Given the description of an element on the screen output the (x, y) to click on. 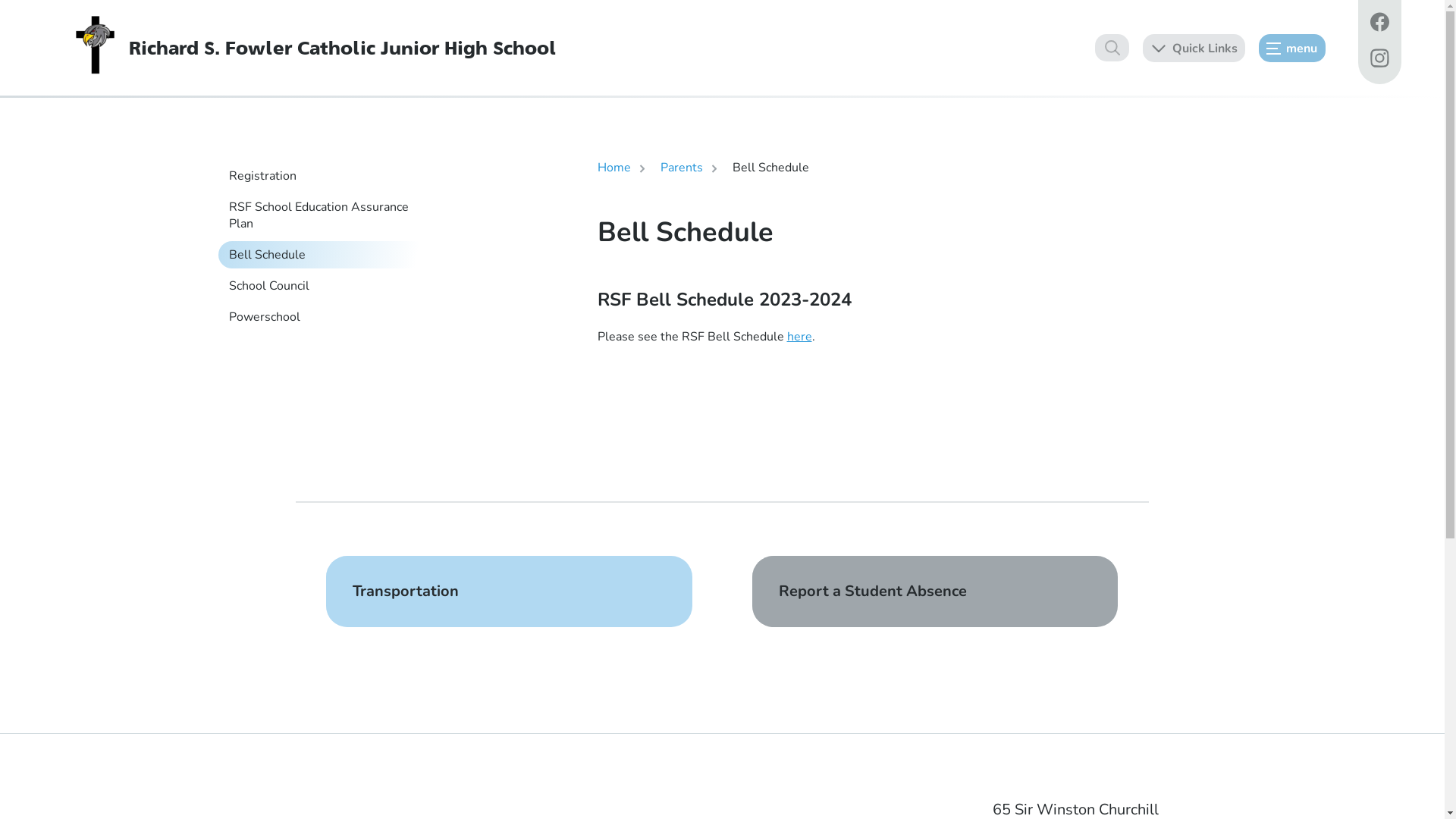
Bell Schedule Element type: text (328, 254)
menu Element type: text (1291, 47)
Report a Student Absence Element type: text (935, 591)
Quick Links Element type: text (1193, 47)
School Council Element type: text (328, 285)
here Element type: text (799, 336)
Instagram Element type: text (1378, 60)
Home Element type: text (613, 168)
Facebook Element type: text (1378, 24)
Powerschool Element type: text (328, 316)
Transportation Element type: text (509, 591)
Registration Element type: text (328, 175)
RSF School Education Assurance Plan Element type: text (328, 215)
Parents Element type: text (680, 168)
home Element type: hover (95, 45)
